Given the description of an element on the screen output the (x, y) to click on. 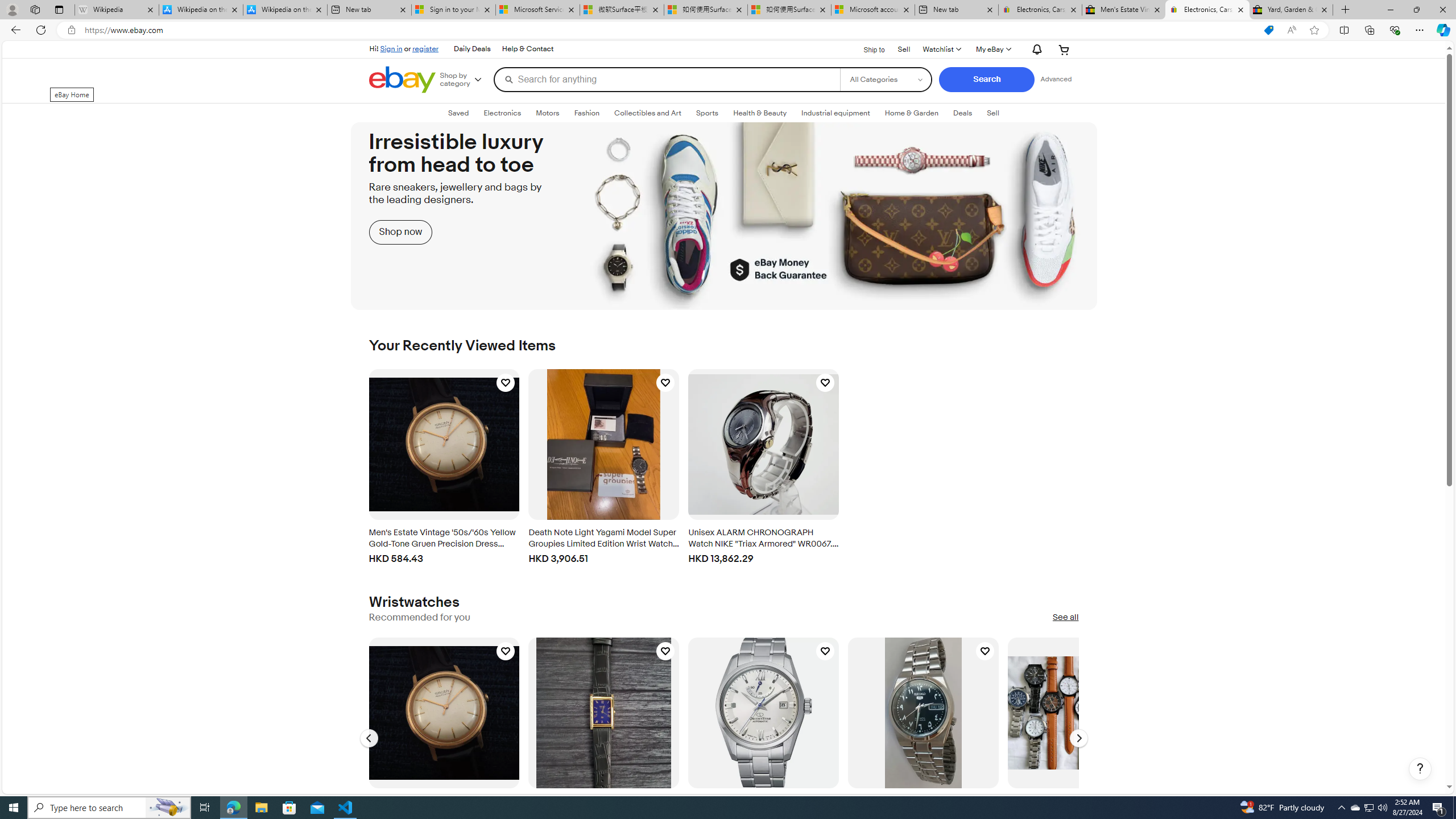
Daily Deals (472, 49)
NEW Seiko 5 Men's Automatic Watch with Arabic Dial New (923, 712)
Industrial equipmentExpand: Industrial equipment (835, 112)
Health & BeautyExpand: Health & Beauty (759, 112)
